Given the description of an element on the screen output the (x, y) to click on. 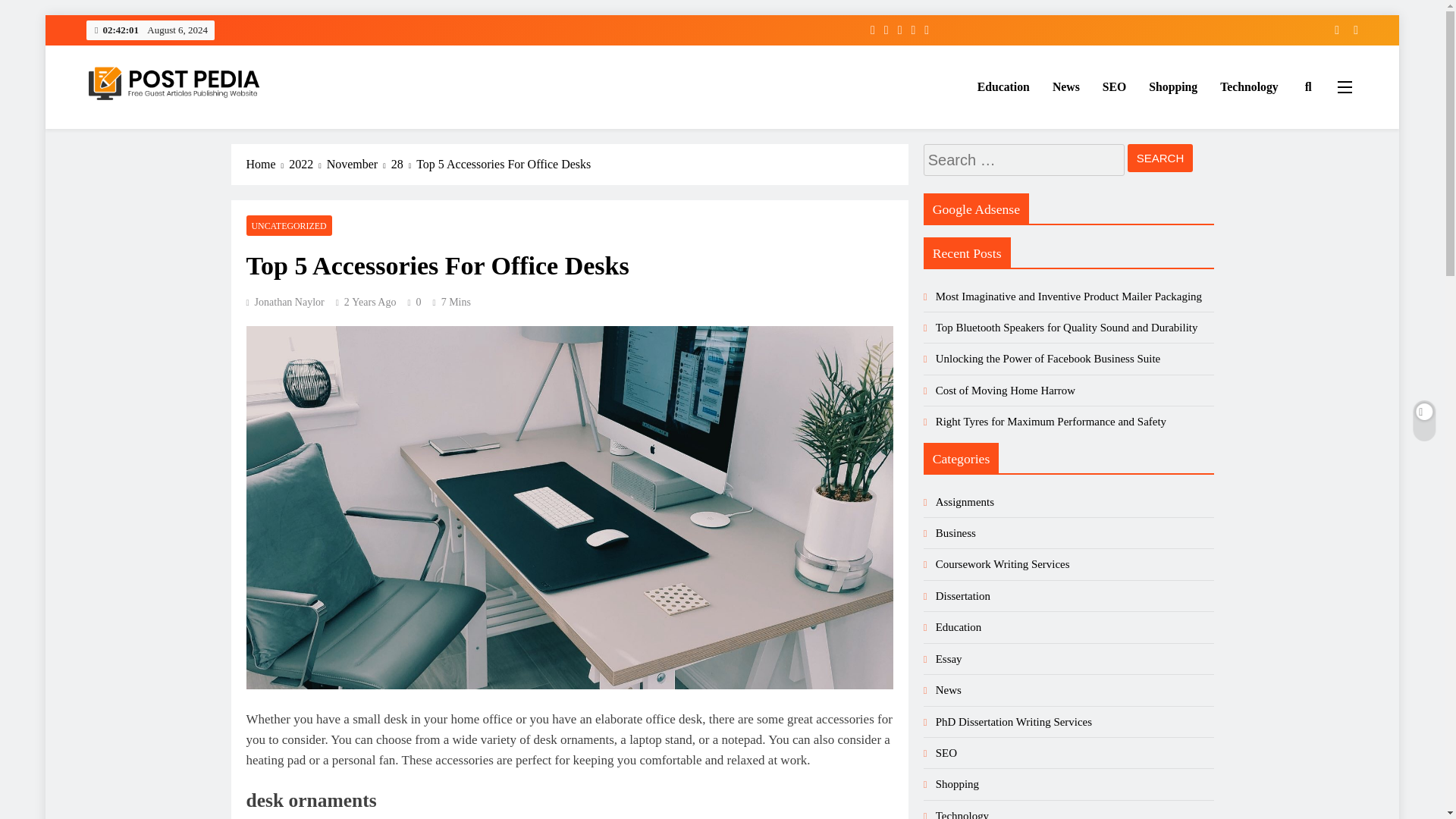
28 (403, 164)
Search (1159, 157)
UNCATEGORIZED (288, 225)
News (1065, 86)
Post Pedia (139, 129)
Education (1003, 86)
SEO (1114, 86)
Search (1159, 157)
Home (267, 164)
Shopping (1172, 86)
2 Years Ago (369, 301)
Technology (1248, 86)
Jonathan Naylor (284, 301)
November (358, 164)
